Given the description of an element on the screen output the (x, y) to click on. 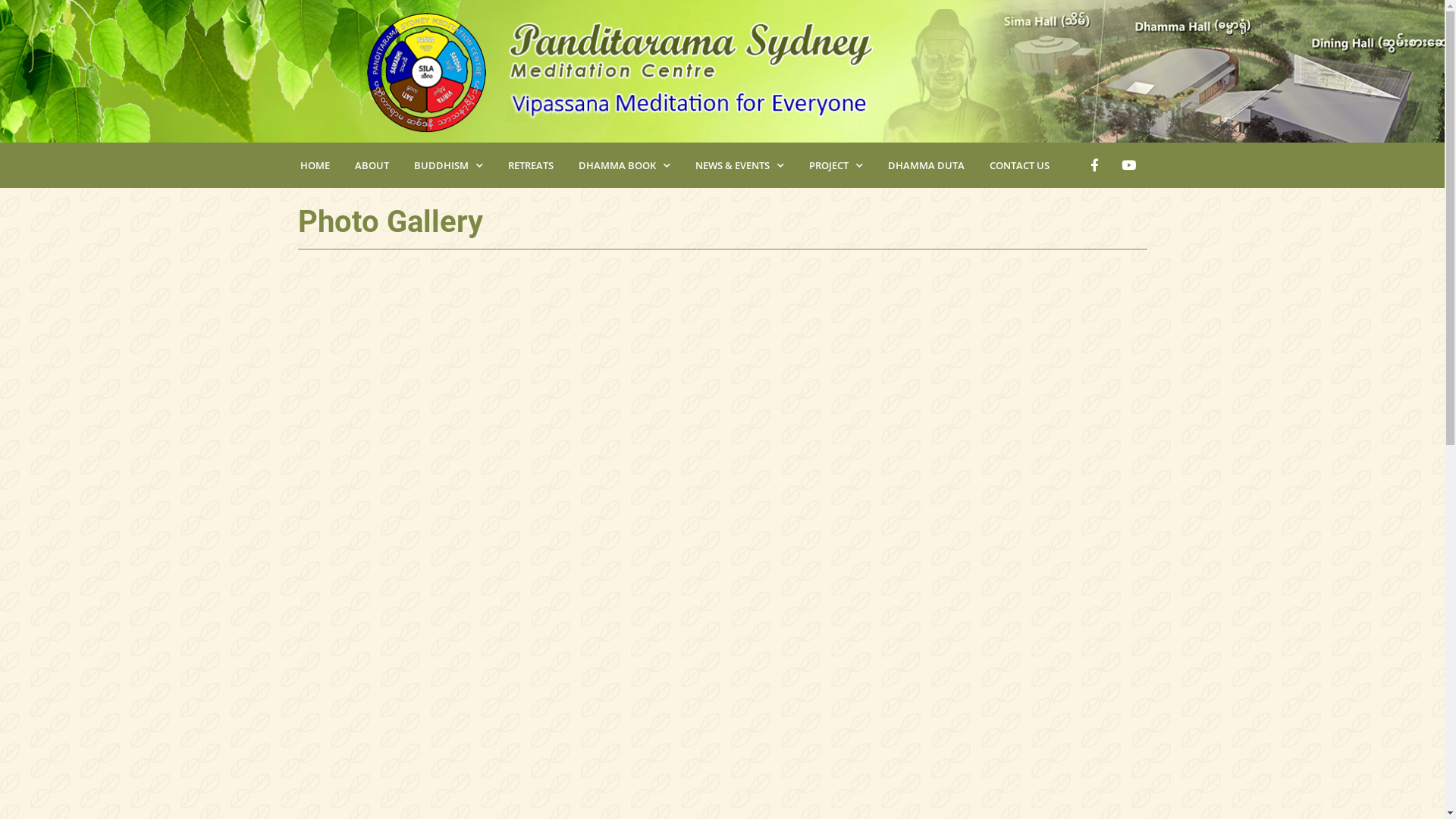
BUDDHISM Element type: text (447, 165)
DHAMMA BOOK Element type: text (623, 165)
RETREATS Element type: text (529, 165)
ABOUT Element type: text (370, 165)
CONTACT US Element type: text (1018, 165)
NEWS & EVENTS Element type: text (739, 165)
DHAMMA DUTA Element type: text (925, 165)
PROJECT Element type: text (835, 165)
HOME Element type: text (313, 165)
